Given the description of an element on the screen output the (x, y) to click on. 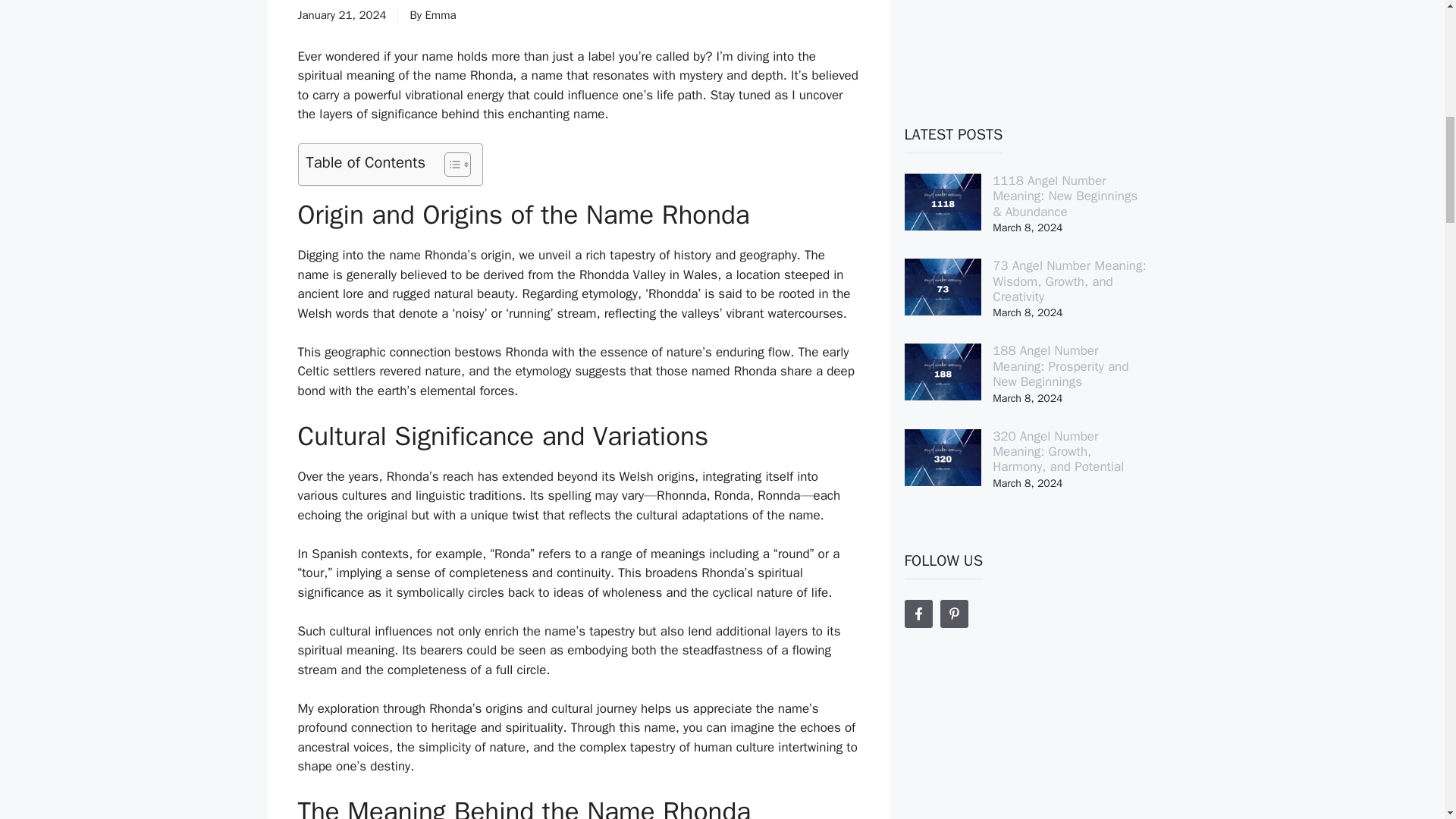
320 Angel Number Meaning: Growth, Harmony, and Potential (1058, 451)
188 Angel Number Meaning: Prosperity and New Beginnings (1060, 366)
73 Angel Number Meaning: Wisdom, Growth, and Creativity (1068, 280)
Advertisement (1025, 36)
